Given the description of an element on the screen output the (x, y) to click on. 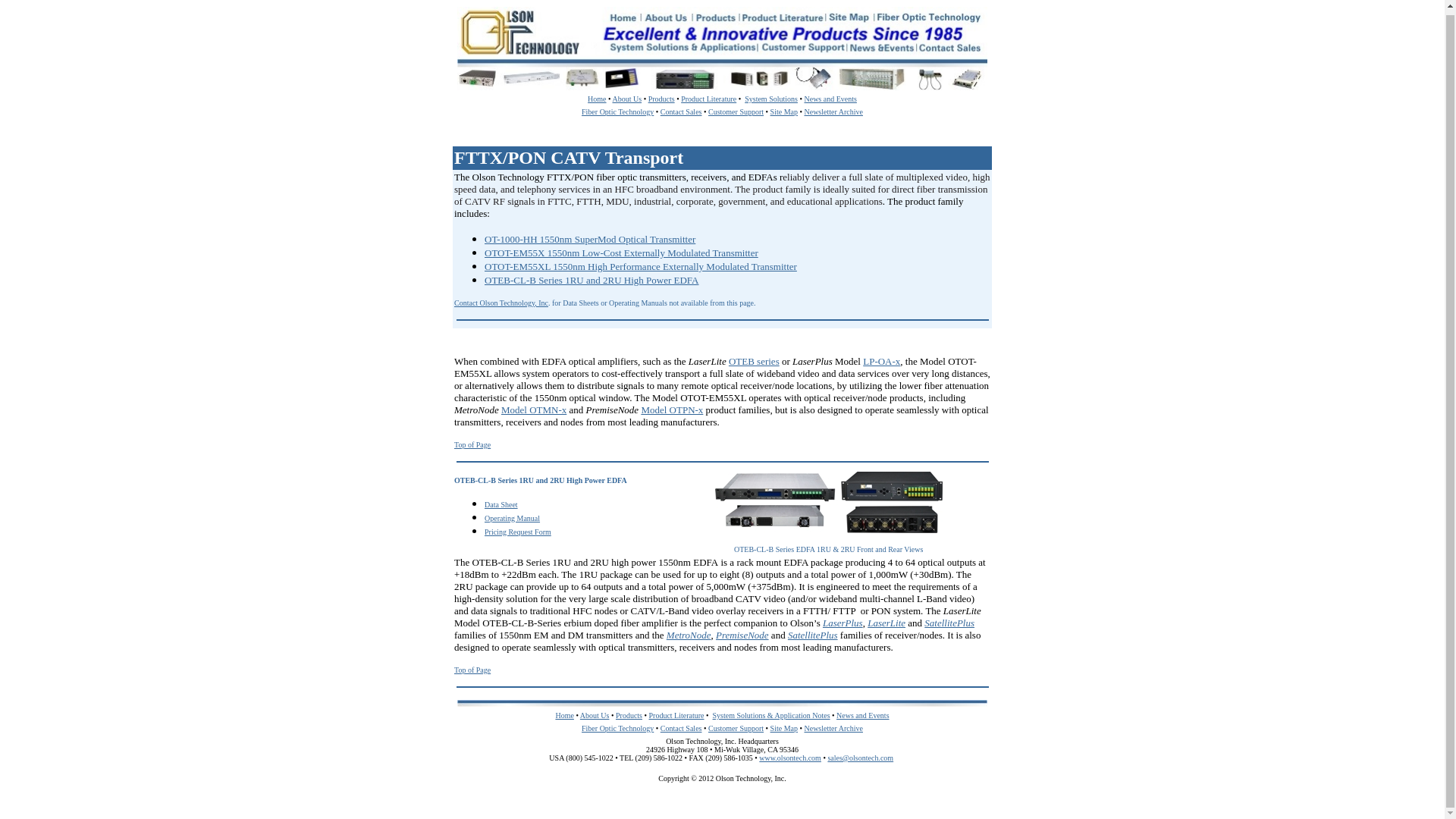
About Us (627, 99)
Product Literature (708, 99)
SatellitePlus (949, 622)
Products (628, 715)
News and Events (829, 99)
SatellitePlus (812, 634)
MetroNode (688, 634)
Contact Sales (681, 111)
Pricing Request Form (517, 531)
LaserLite (886, 622)
Data Sheet (501, 503)
Site Map (783, 111)
OTEB-CL-B Series 1RU and 2RU High Power EDFA (591, 279)
Model OTPN-x (671, 409)
Operating Manual (512, 517)
